Given the description of an element on the screen output the (x, y) to click on. 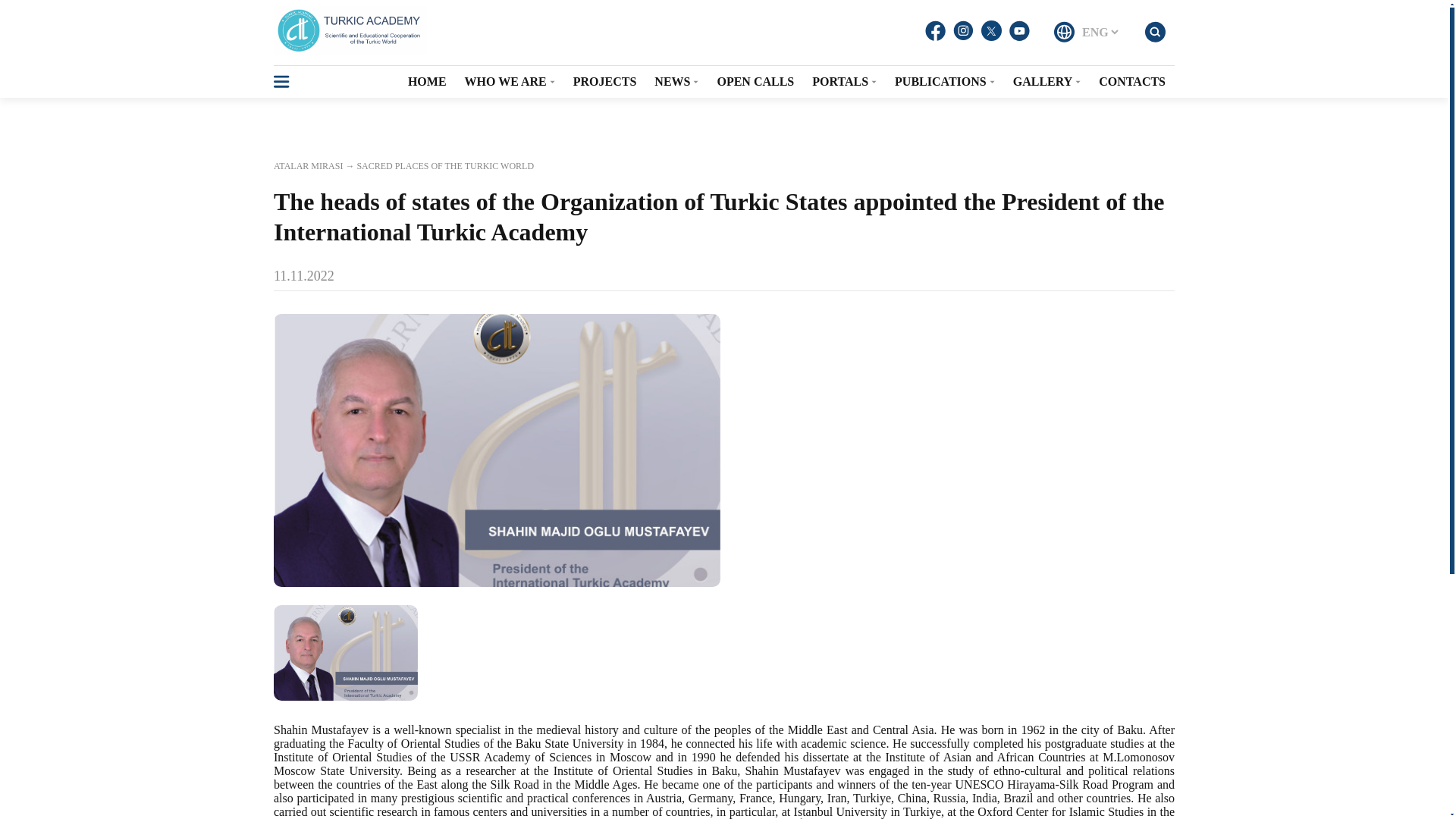
OPEN CALLS (755, 81)
CONTACTS (1131, 81)
HOME (426, 81)
PROJECTS (605, 81)
